Given the description of an element on the screen output the (x, y) to click on. 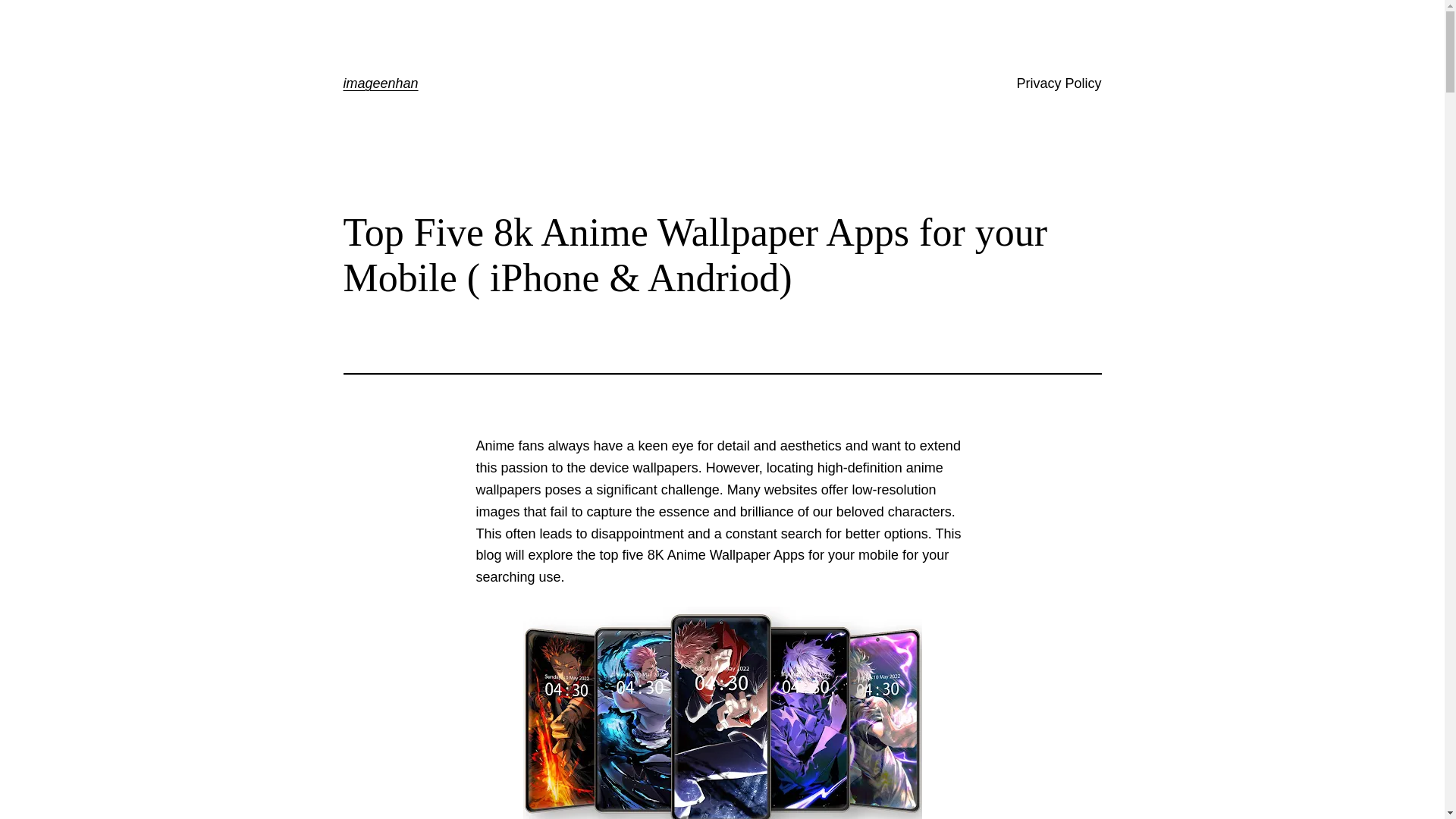
imageenhan (379, 83)
Privacy Policy (1058, 83)
